Given the description of an element on the screen output the (x, y) to click on. 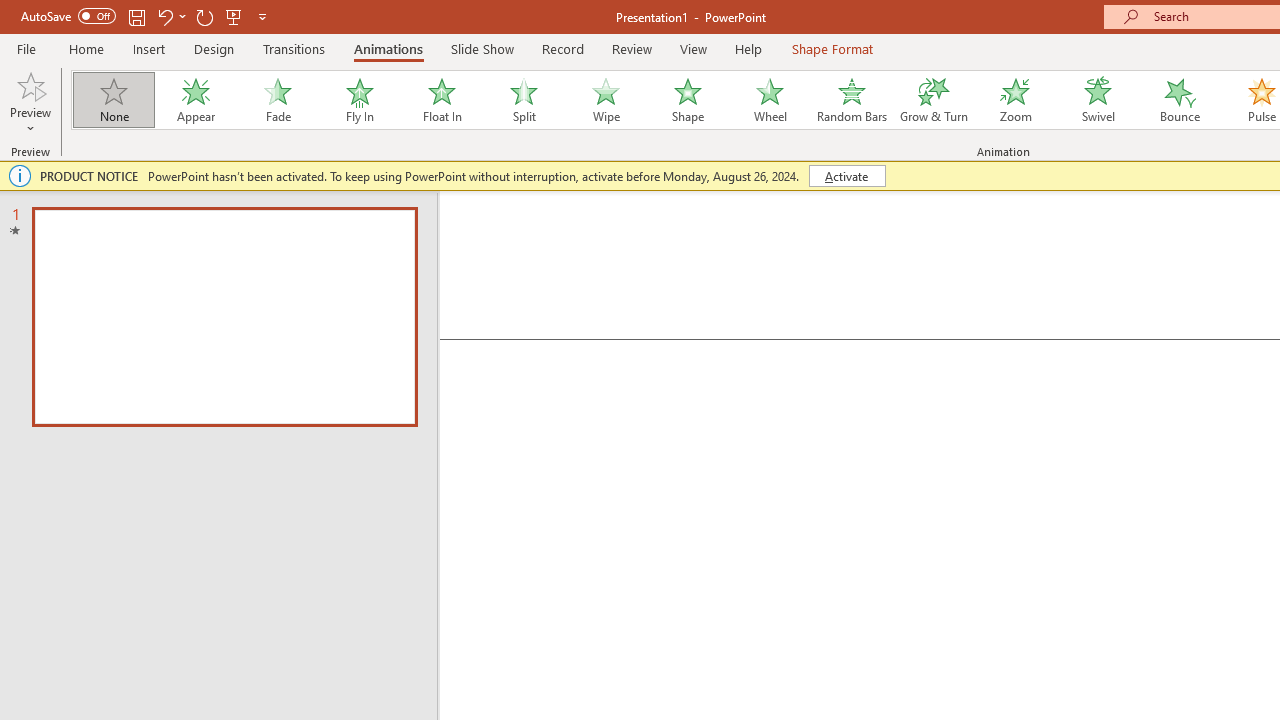
Grow & Turn (934, 100)
Fade (277, 100)
Wheel (770, 100)
Wipe (605, 100)
Appear (195, 100)
